Given the description of an element on the screen output the (x, y) to click on. 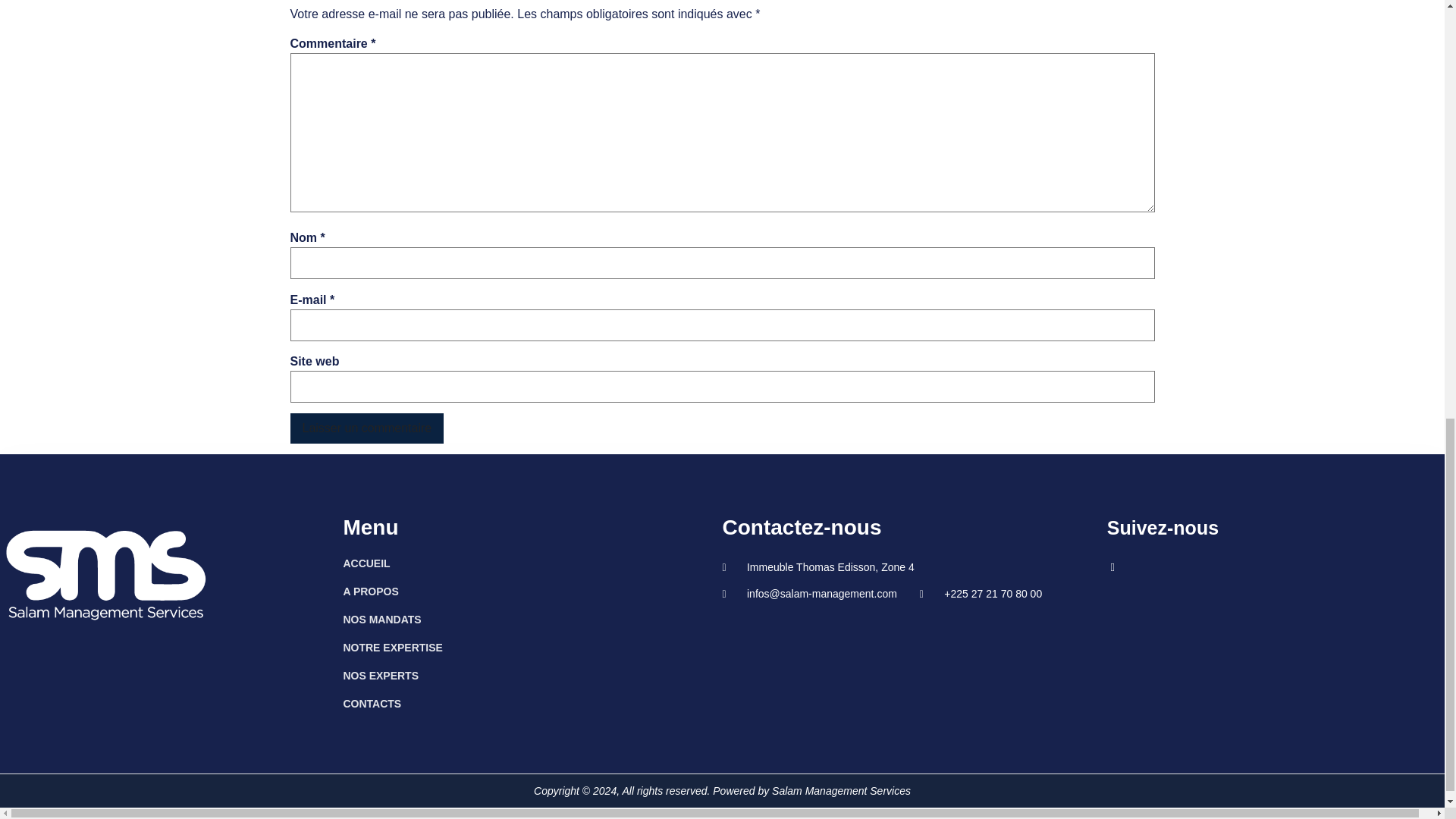
A PROPOS (532, 591)
Laisser un commentaire (366, 428)
Laisser un commentaire (366, 428)
NOTRE EXPERTISE (532, 647)
ACCUEIL (532, 563)
NOS MANDATS (532, 619)
CONTACTS (532, 703)
NOS EXPERTS (532, 675)
